Given the description of an element on the screen output the (x, y) to click on. 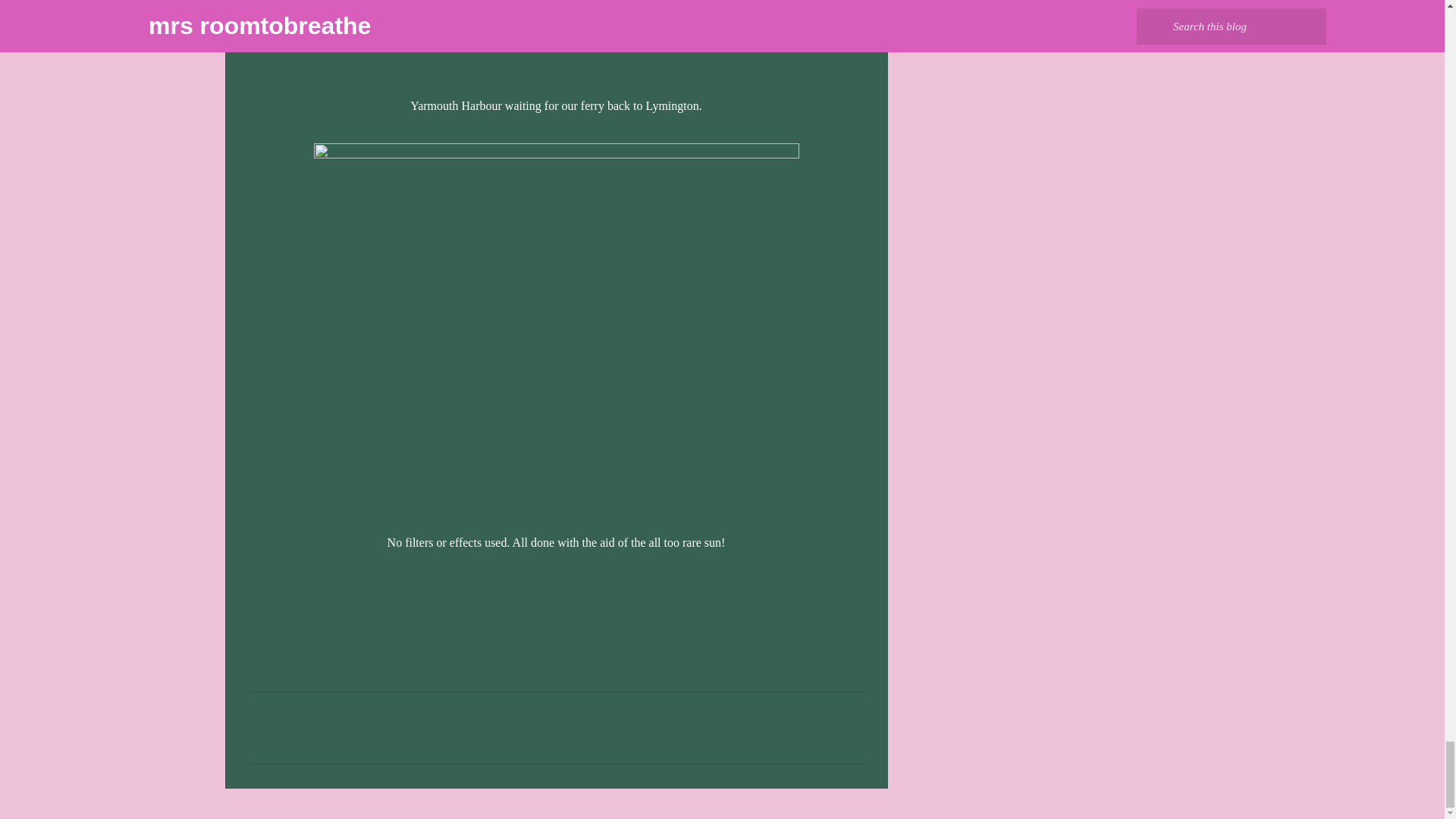
Email Post (257, 593)
